Given the description of an element on the screen output the (x, y) to click on. 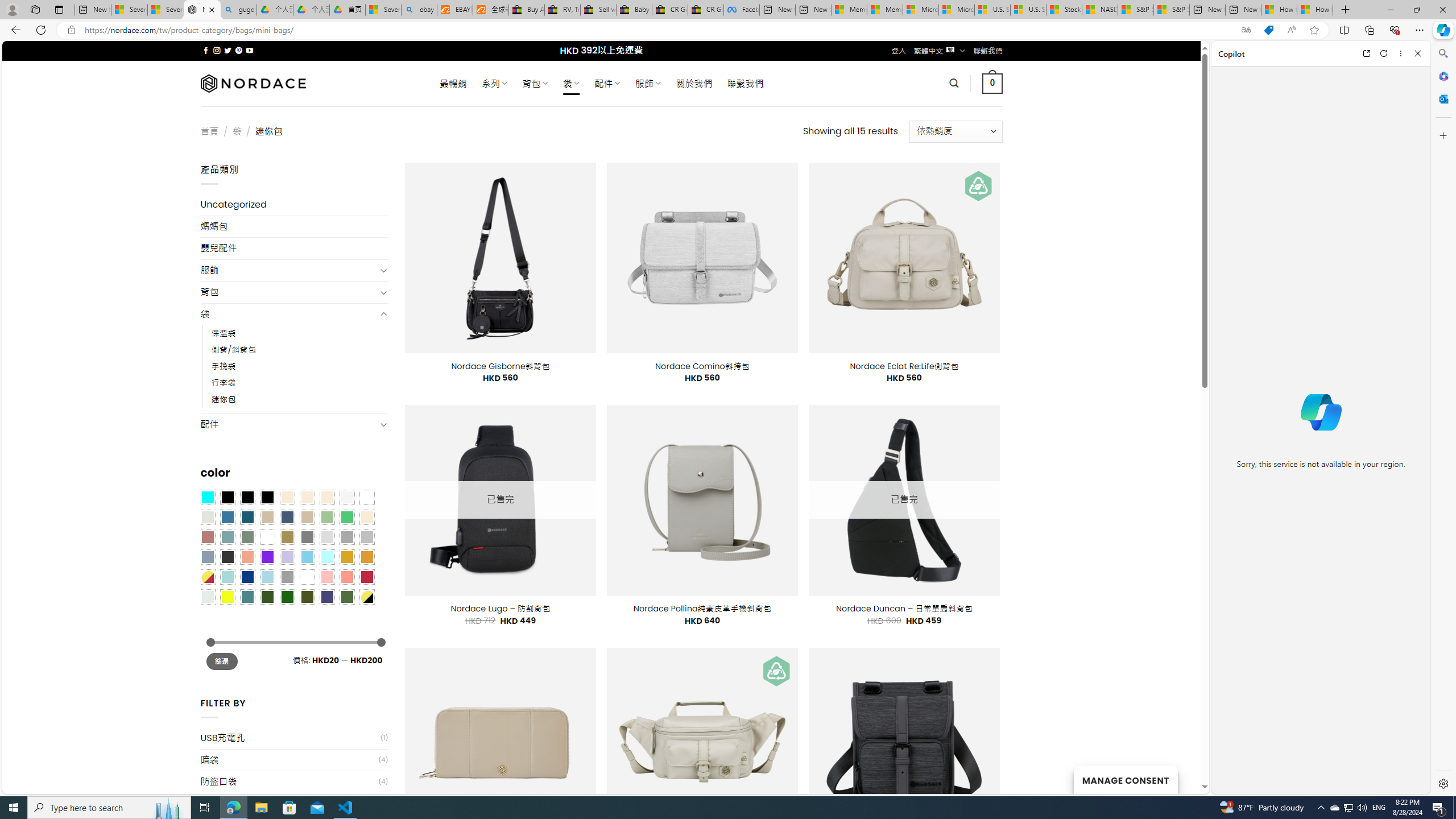
Follow on Instagram (216, 50)
Follow on YouTube (249, 50)
